Given the description of an element on the screen output the (x, y) to click on. 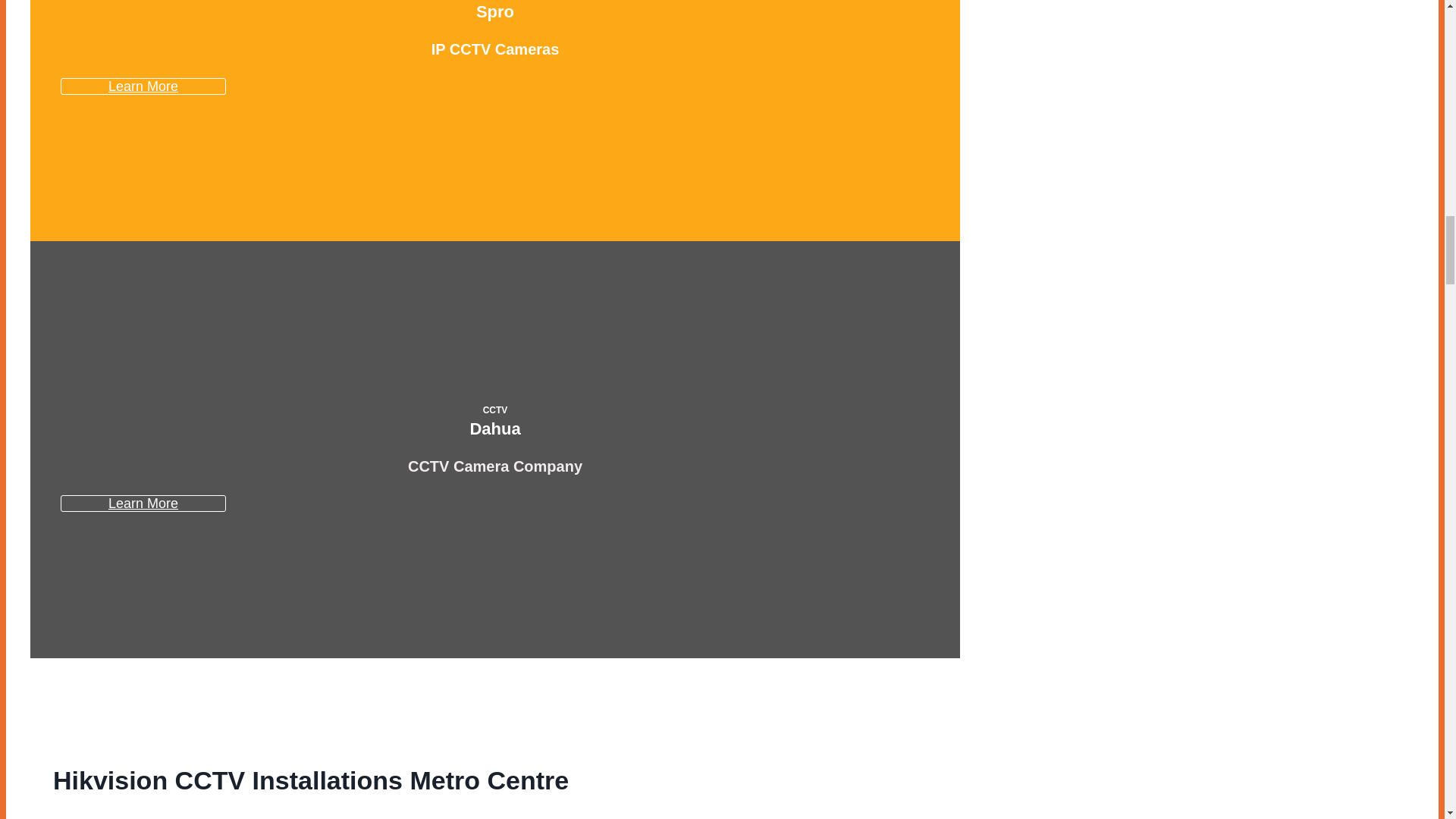
Learn More (143, 86)
Learn More (143, 503)
